Given the description of an element on the screen output the (x, y) to click on. 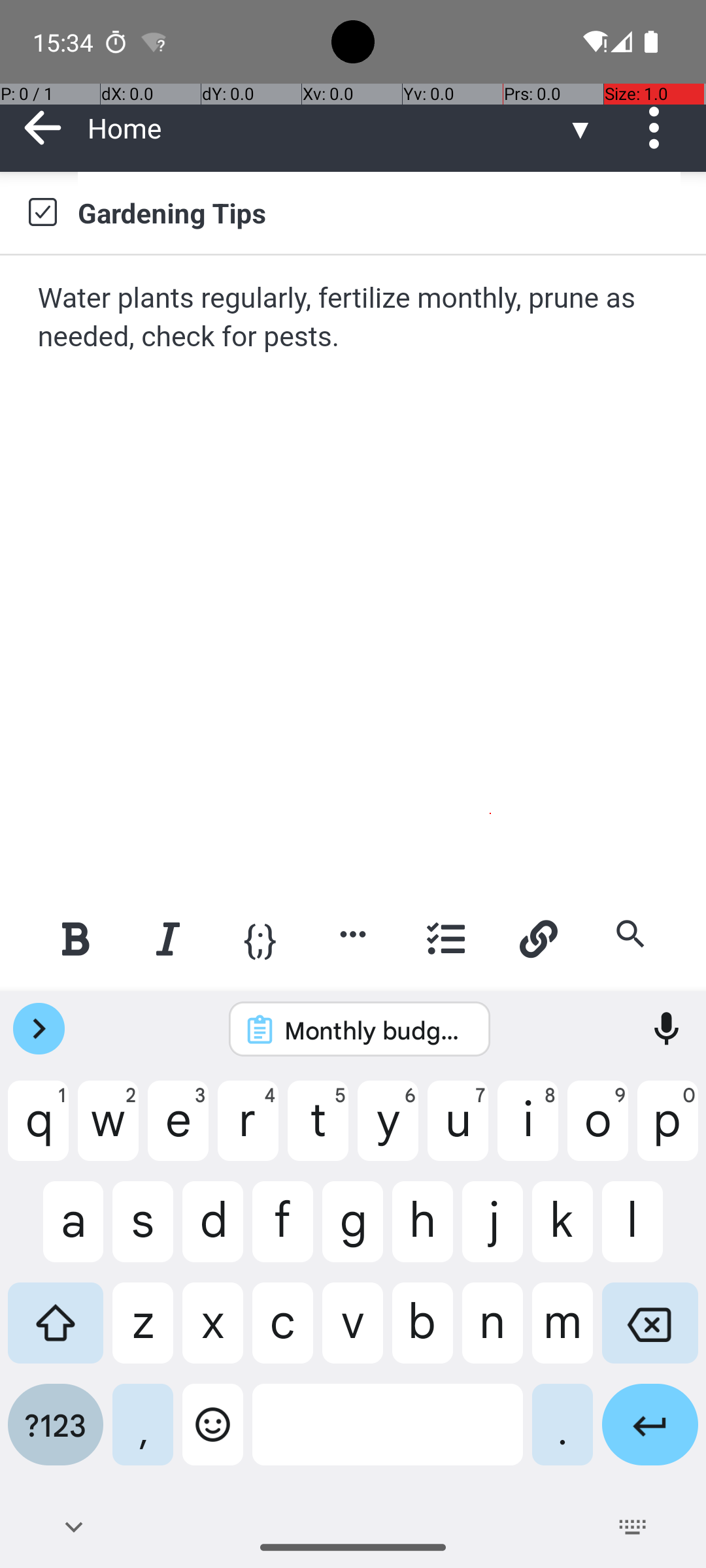
Water plants regularly, fertilize monthly, prune as needed, check for pests. Element type: android.widget.EditText (354, 317)
Monthly budget meeting pushed to Friday. Element type: android.widget.TextView (376, 1029)
